Given the description of an element on the screen output the (x, y) to click on. 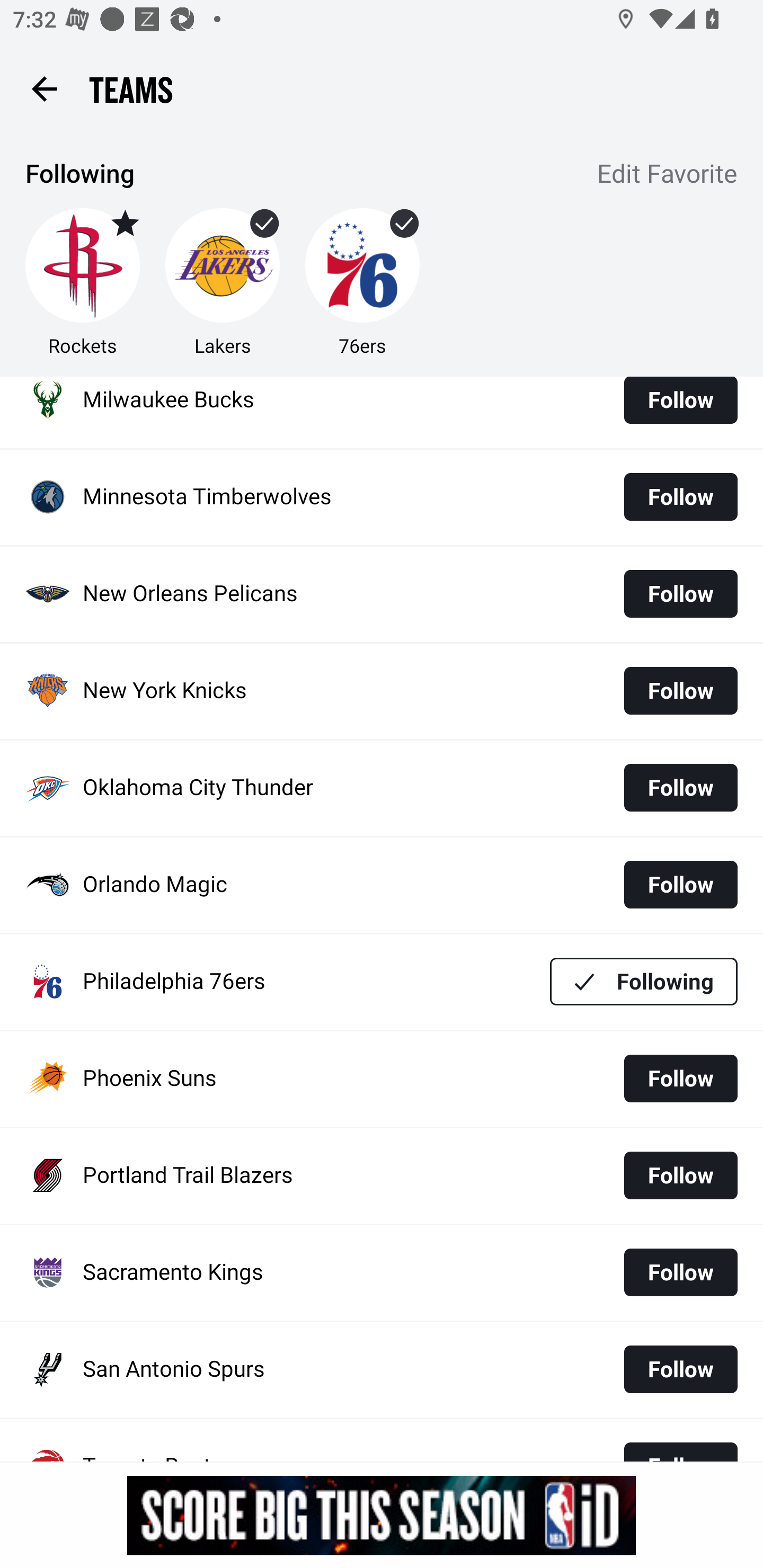
Back button (44, 88)
Edit Favorite (667, 175)
Milwaukee Bucks Follow (381, 412)
Follow (680, 406)
Minnesota Timberwolves Follow (381, 497)
Follow (680, 496)
New Orleans Pelicans Follow (381, 594)
Follow (680, 593)
New York Knicks Follow (381, 690)
Follow (680, 690)
Oklahoma City Thunder Follow (381, 787)
Follow (680, 787)
Orlando Magic Follow (381, 884)
Follow (680, 884)
Philadelphia 76ers Following (381, 982)
Following (643, 981)
Phoenix Suns Follow (381, 1079)
Follow (680, 1078)
Portland Trail Blazers Follow (381, 1175)
Follow (680, 1174)
Sacramento Kings Follow (381, 1272)
Follow (680, 1272)
San Antonio Spurs Follow (381, 1369)
Follow (680, 1369)
g5nqqygr7owph (381, 1515)
